Given the description of an element on the screen output the (x, y) to click on. 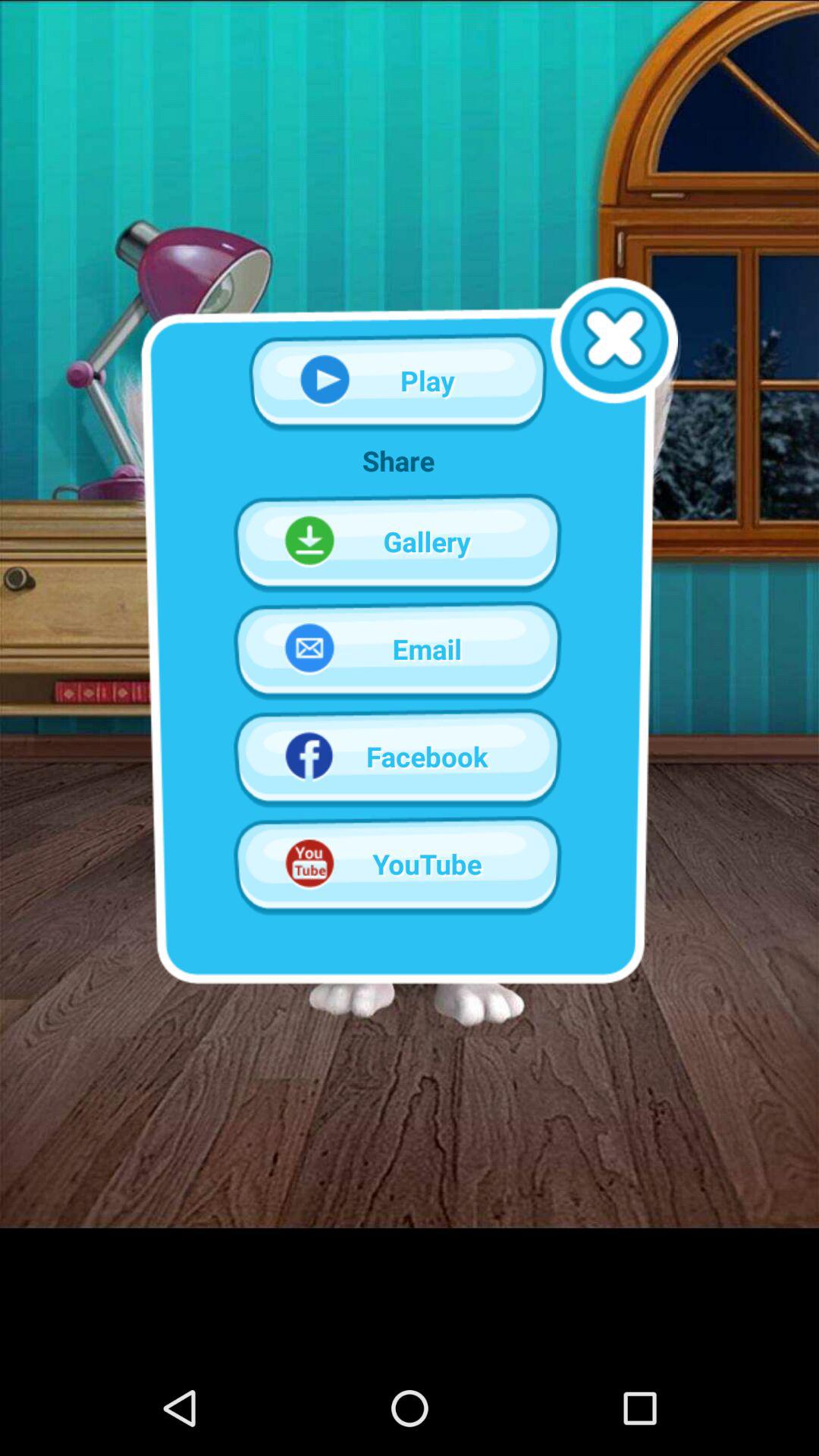
exit (613, 340)
